Given the description of an element on the screen output the (x, y) to click on. 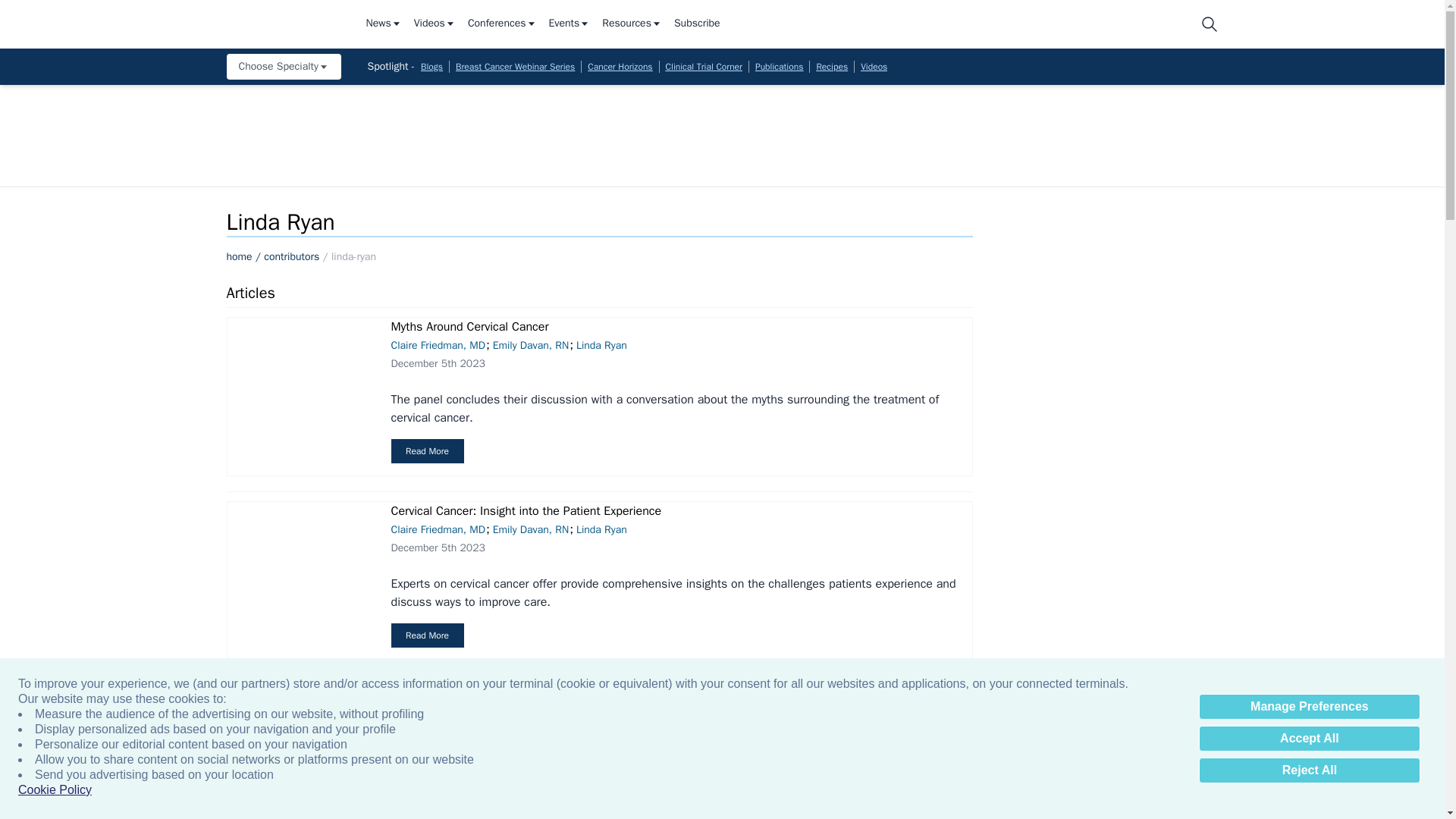
Manage Preferences (1309, 706)
Resources (632, 23)
Cookie Policy (54, 789)
Linda Ryan, a patient advocate (299, 755)
News (383, 23)
Conferences (502, 23)
Accept All (1309, 738)
Videos (434, 23)
Events (569, 23)
Reject All (1309, 769)
